Given the description of an element on the screen output the (x, y) to click on. 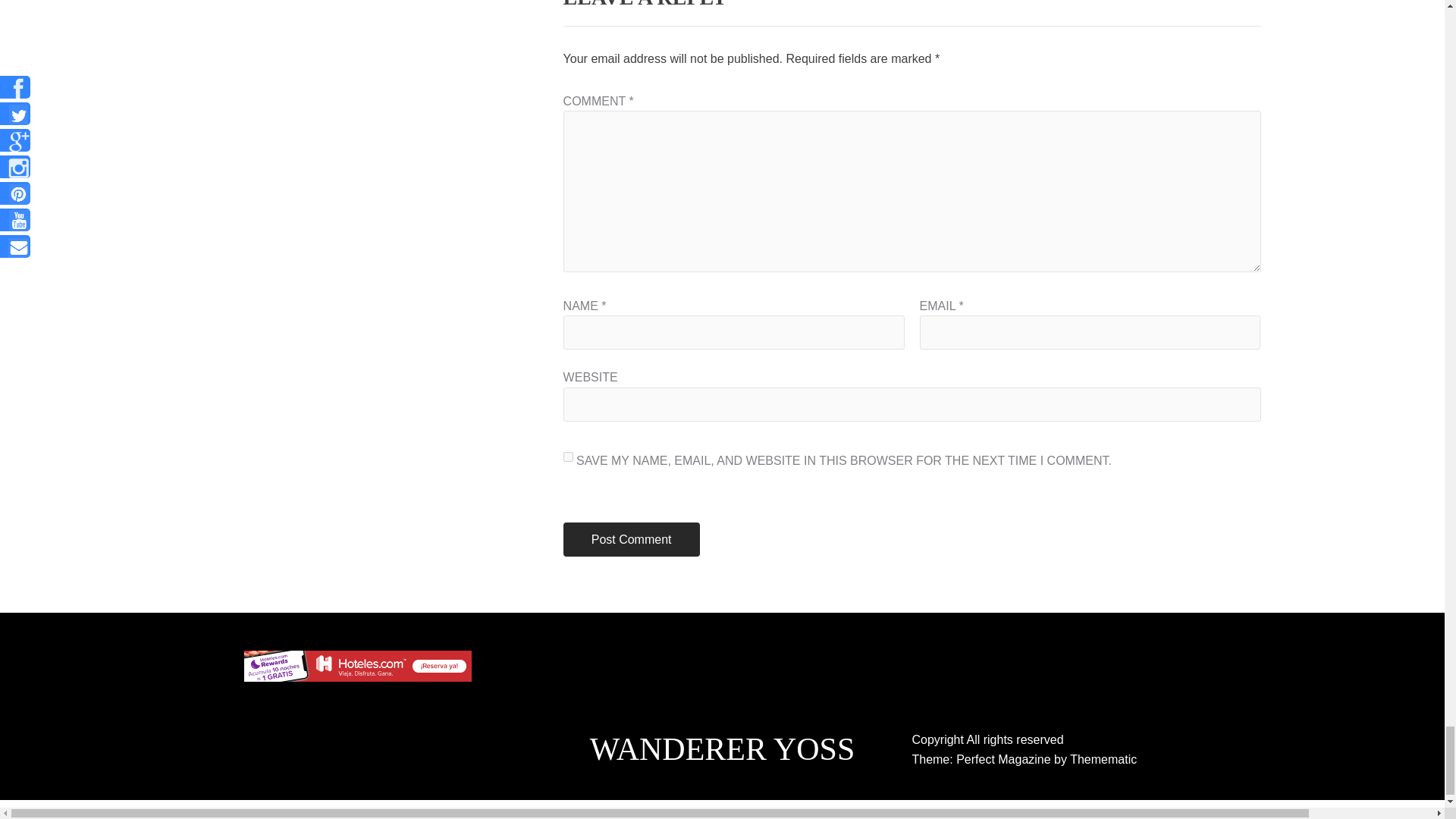
Post Comment (631, 539)
